Given the description of an element on the screen output the (x, y) to click on. 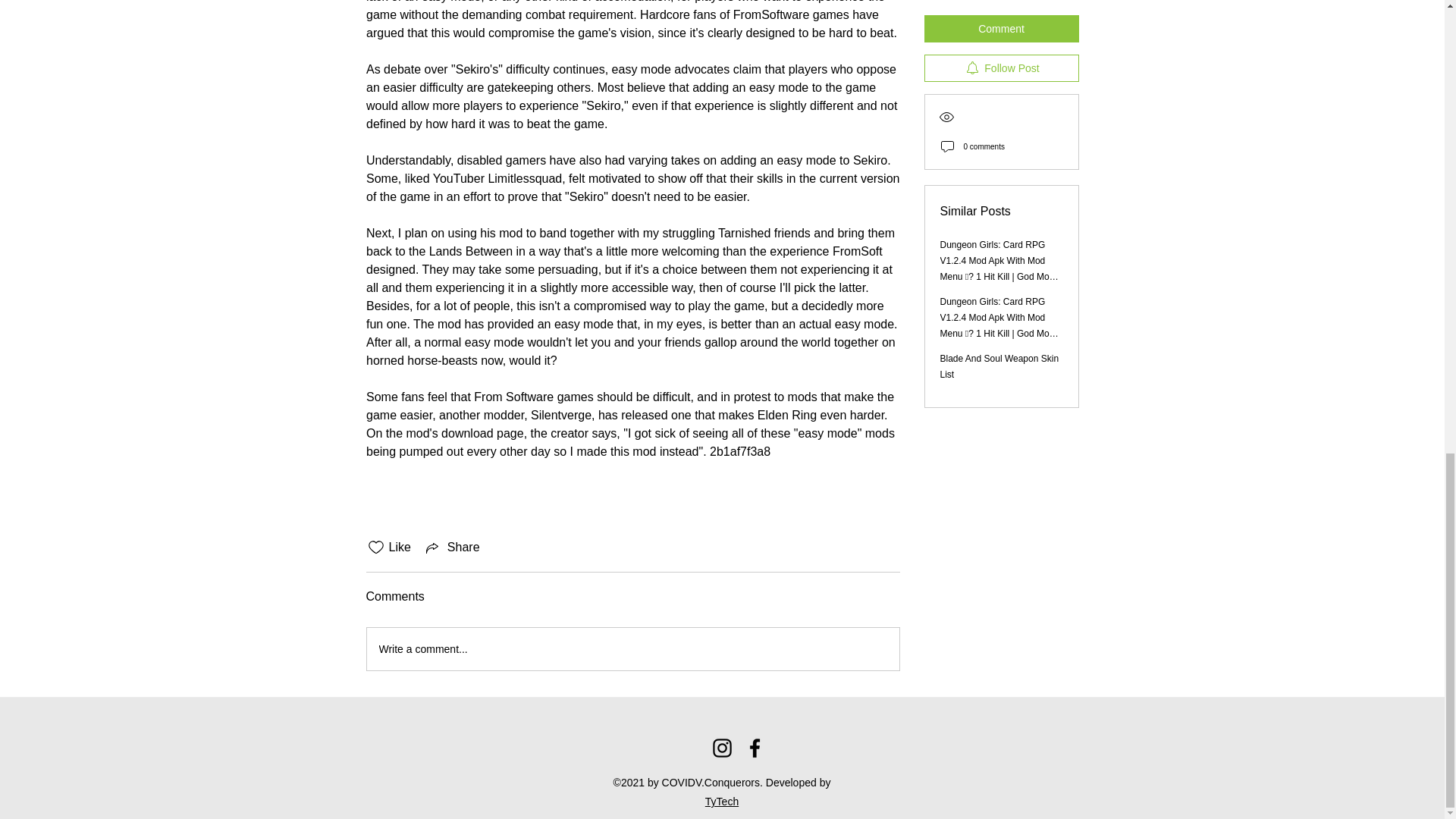
Write a comment... (632, 649)
Share (451, 547)
TyTech (721, 801)
